Given the description of an element on the screen output the (x, y) to click on. 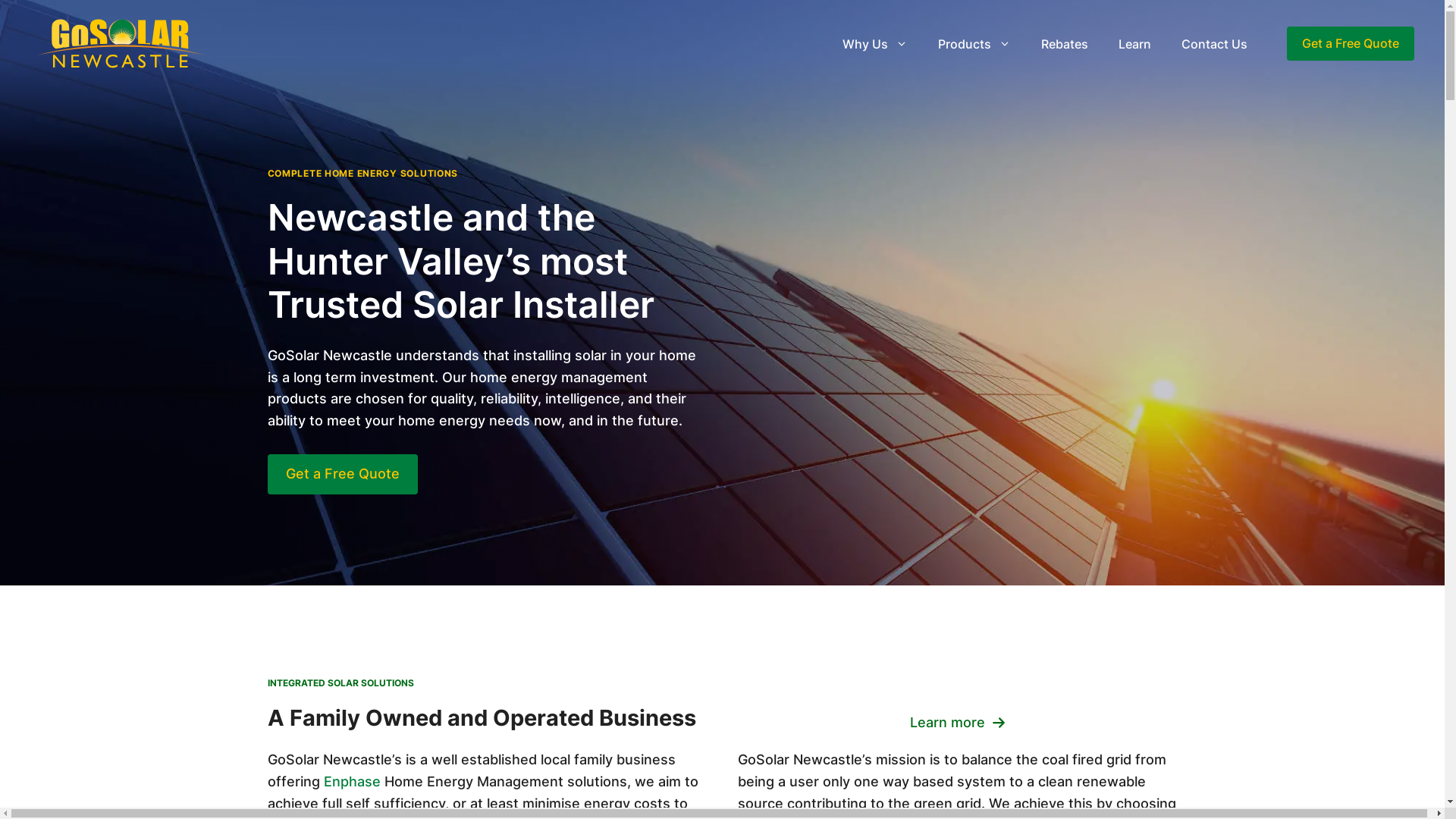
Products Element type: text (974, 43)
Contact Us Element type: text (1214, 43)
Learn more Element type: text (957, 722)
Enphase Element type: text (351, 781)
Why Us Element type: text (874, 43)
GoSolar Newcastle Element type: hover (121, 42)
Rebates Element type: text (1064, 43)
Get a Free Quote Element type: text (341, 474)
GoSolar Newcastle Element type: hover (121, 43)
Learn Element type: text (1134, 43)
Get a Free Quote Element type: text (1350, 43)
